Given the description of an element on the screen output the (x, y) to click on. 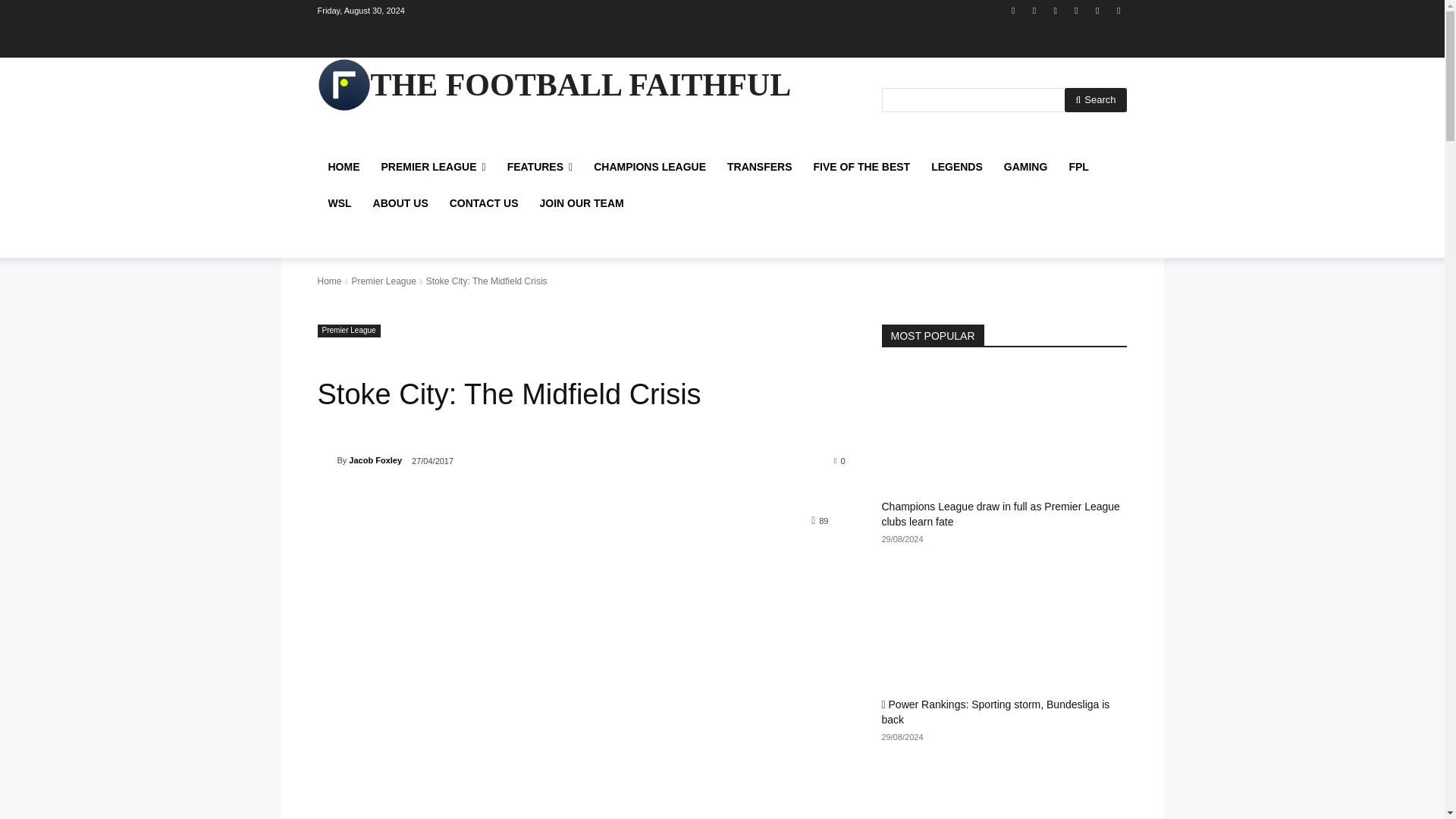
Youtube (1117, 9)
Instagram (1034, 9)
RSS (1055, 9)
Facebook (1013, 9)
TikTok (1075, 9)
Twitter (1097, 9)
